Given the description of an element on the screen output the (x, y) to click on. 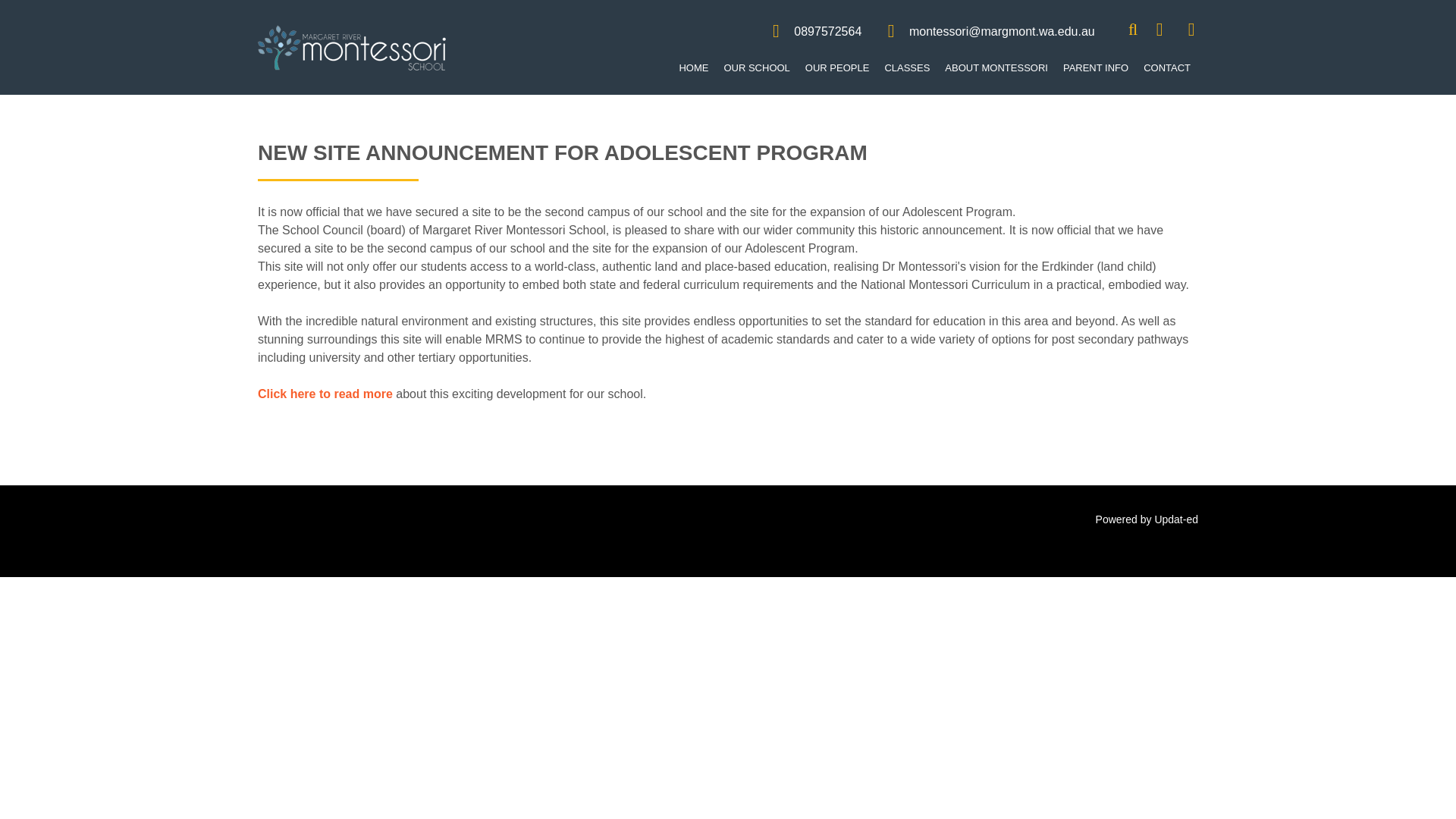
HOME (693, 68)
PARENT INFO (1095, 68)
0897572564 (827, 31)
CLASSES (906, 68)
OUR PEOPLE (837, 68)
ABOUT MONTESSORI (996, 68)
OUR SCHOOL (756, 68)
